Given the description of an element on the screen output the (x, y) to click on. 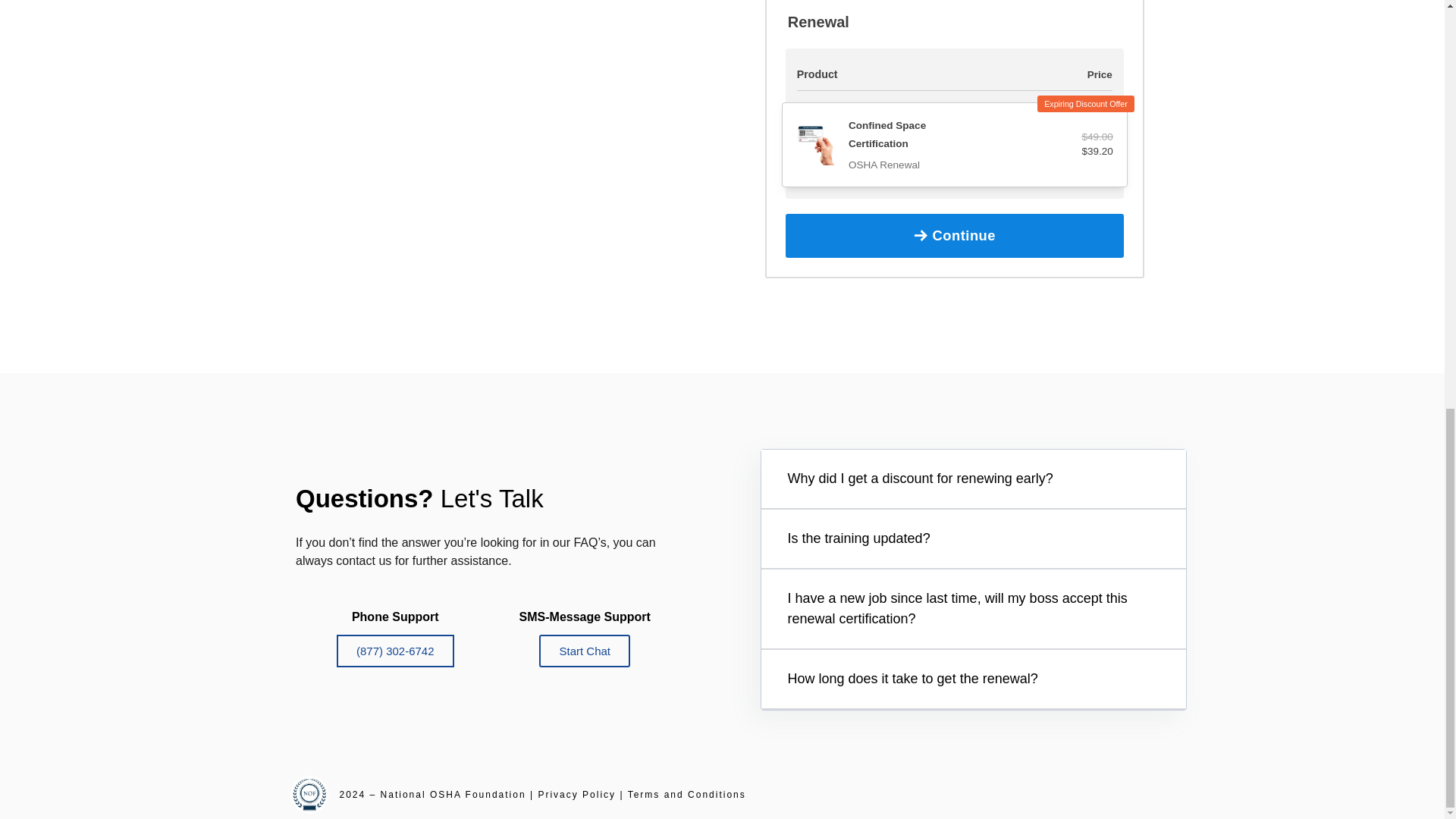
Terms and Conditions (686, 794)
How long does it take to get the renewal? (911, 678)
Is the training updated? (858, 538)
Privacy Policy (576, 794)
Start Chat (584, 650)
Continue (955, 235)
Why did I get a discount for renewing early? (919, 478)
